Given the description of an element on the screen output the (x, y) to click on. 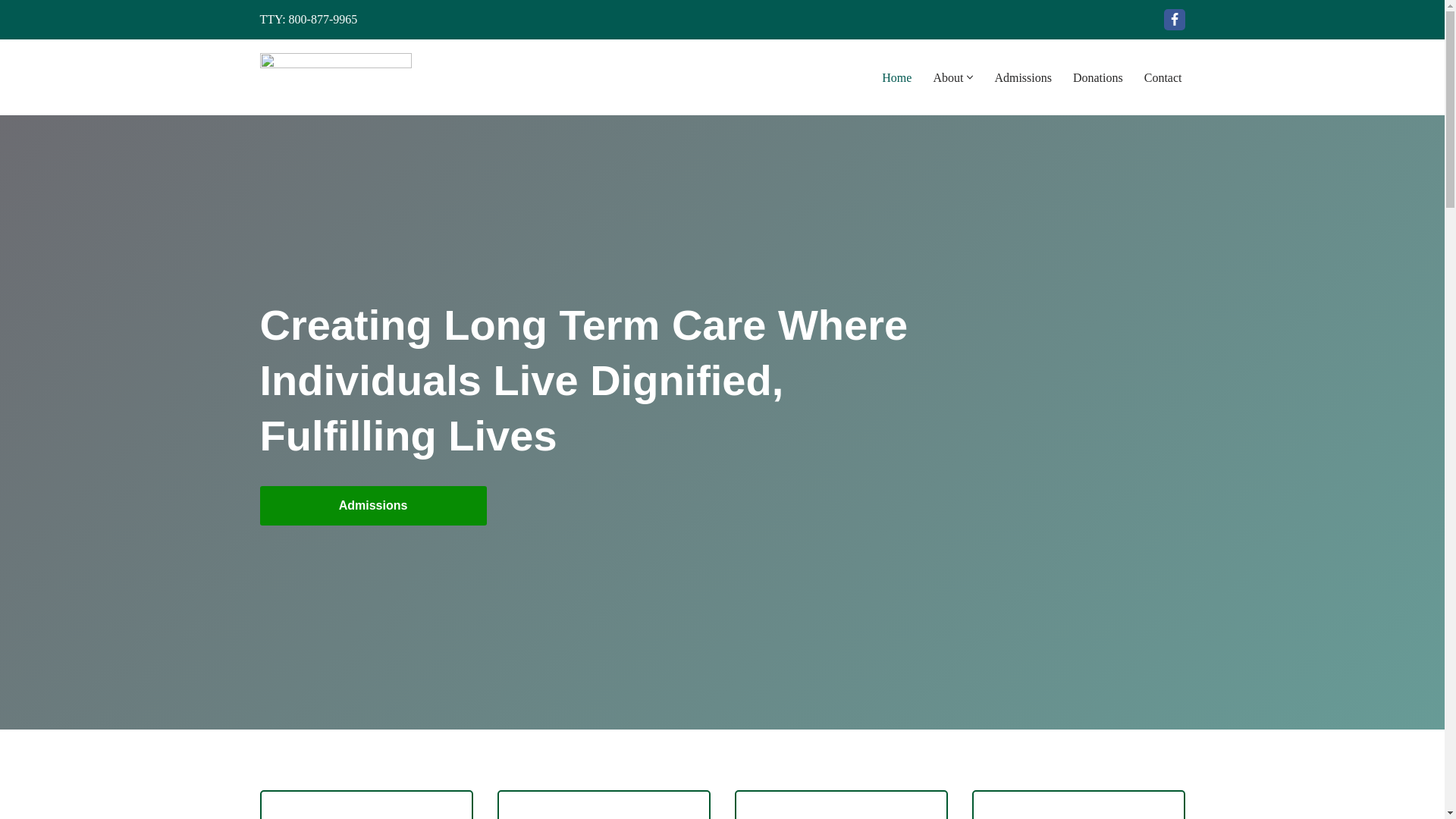
Admissions (1022, 77)
About (947, 77)
Donations (1097, 77)
Skip to content (11, 31)
Home (896, 77)
Sheridan Green House (334, 77)
Facebook (1174, 19)
TTY: 800-877-9965 (307, 19)
Contact (1163, 77)
Admissions (372, 505)
